Given the description of an element on the screen output the (x, y) to click on. 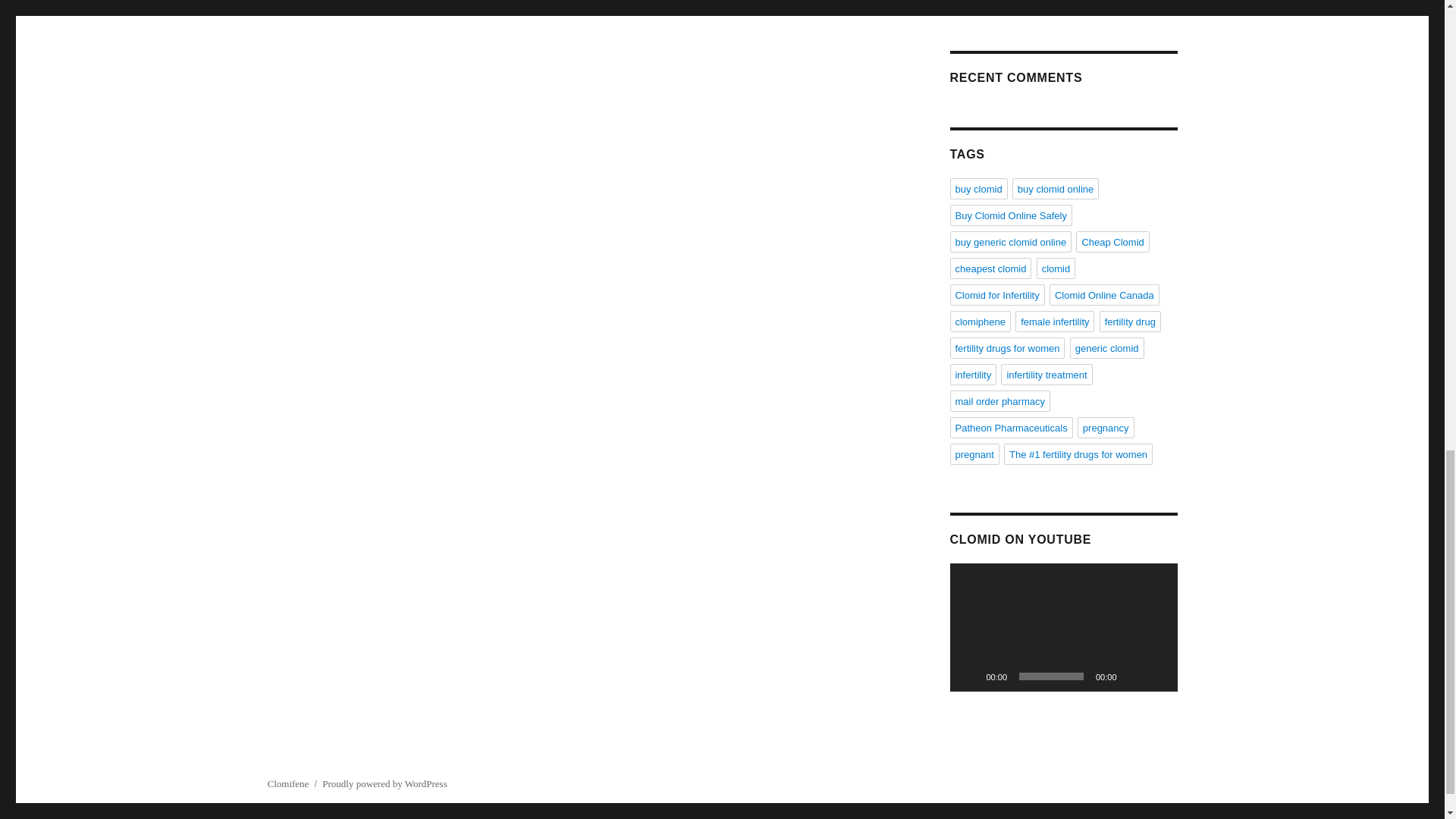
pregnancy (1105, 427)
infertility (972, 373)
Clomid Online Canada (1103, 294)
Cheap Clomid (1111, 241)
Mute (1132, 676)
clomiphene (979, 321)
fertility drug (1129, 321)
fertility drugs for women (1006, 347)
mail order pharmacy (999, 400)
Fullscreen (1157, 676)
Female Infertility (996, 2)
infertility treatment (1046, 373)
Play (968, 676)
Patheon Pharmaceuticals (1010, 427)
Clomid for Infertility (996, 294)
